Given the description of an element on the screen output the (x, y) to click on. 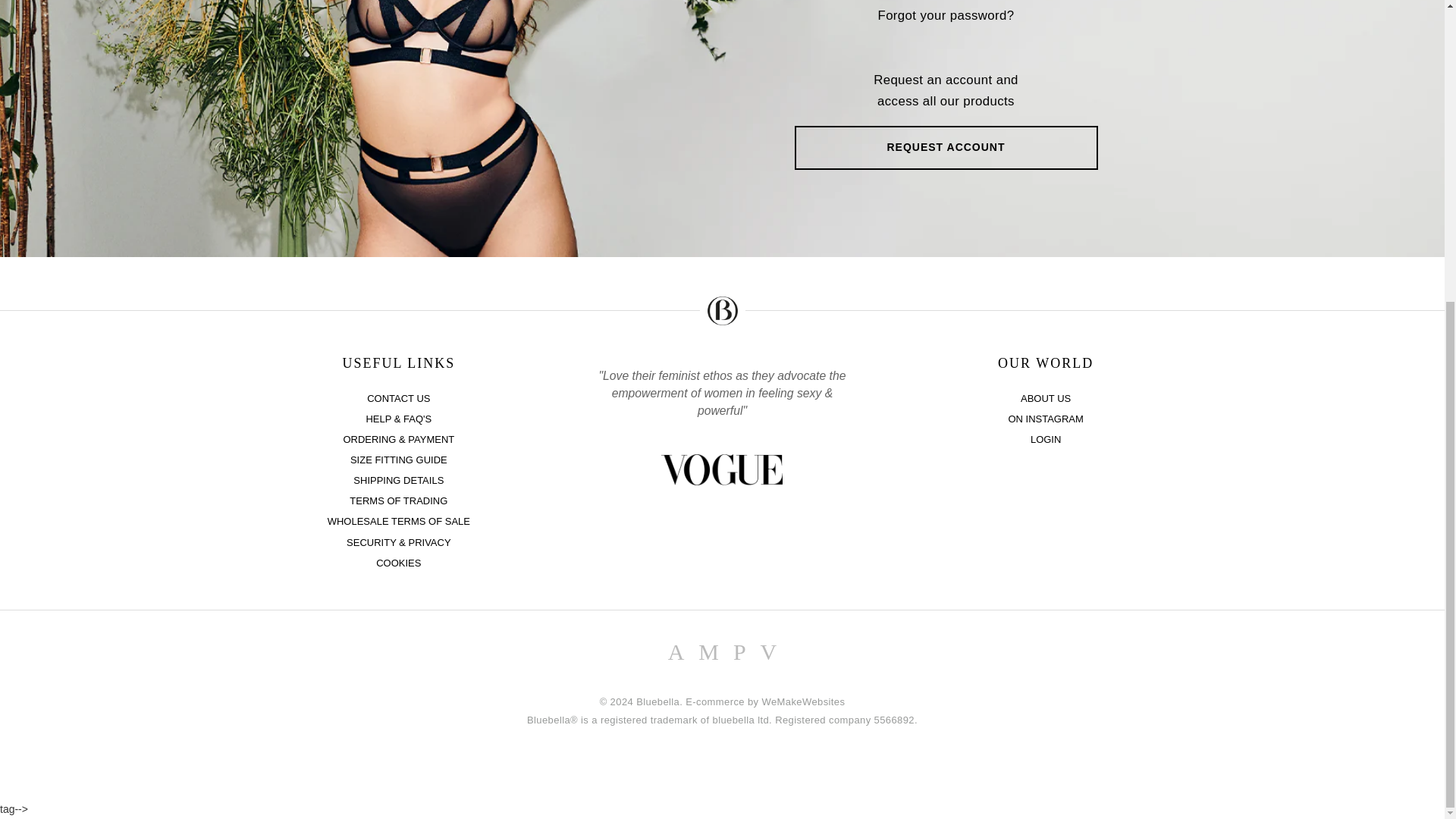
Forgot your password? (945, 15)
